Given the description of an element on the screen output the (x, y) to click on. 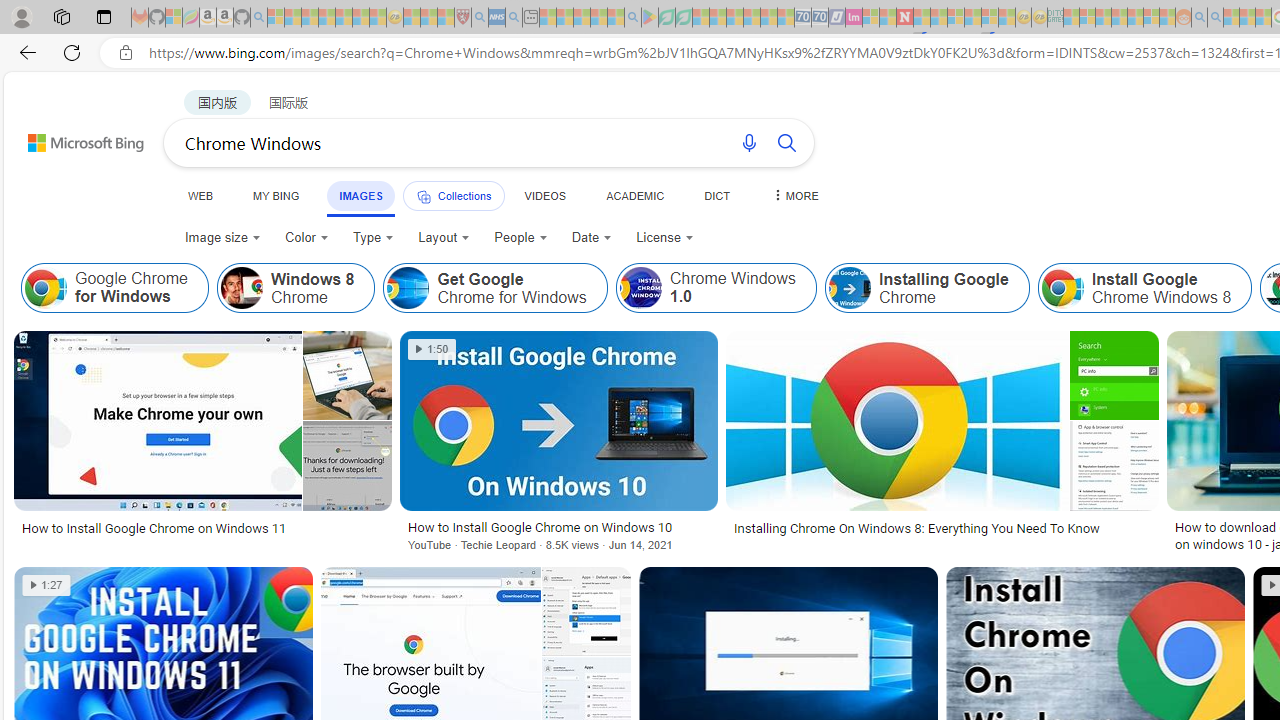
list of asthma inhalers uk - Search - Sleeping (479, 17)
1:27 (45, 585)
Install Google Chrome Windows 8 (1144, 287)
DICT (717, 195)
Cheap Car Rentals - Save70.com - Sleeping (802, 17)
Class: item col (1144, 287)
Date (591, 237)
